Given the description of an element on the screen output the (x, y) to click on. 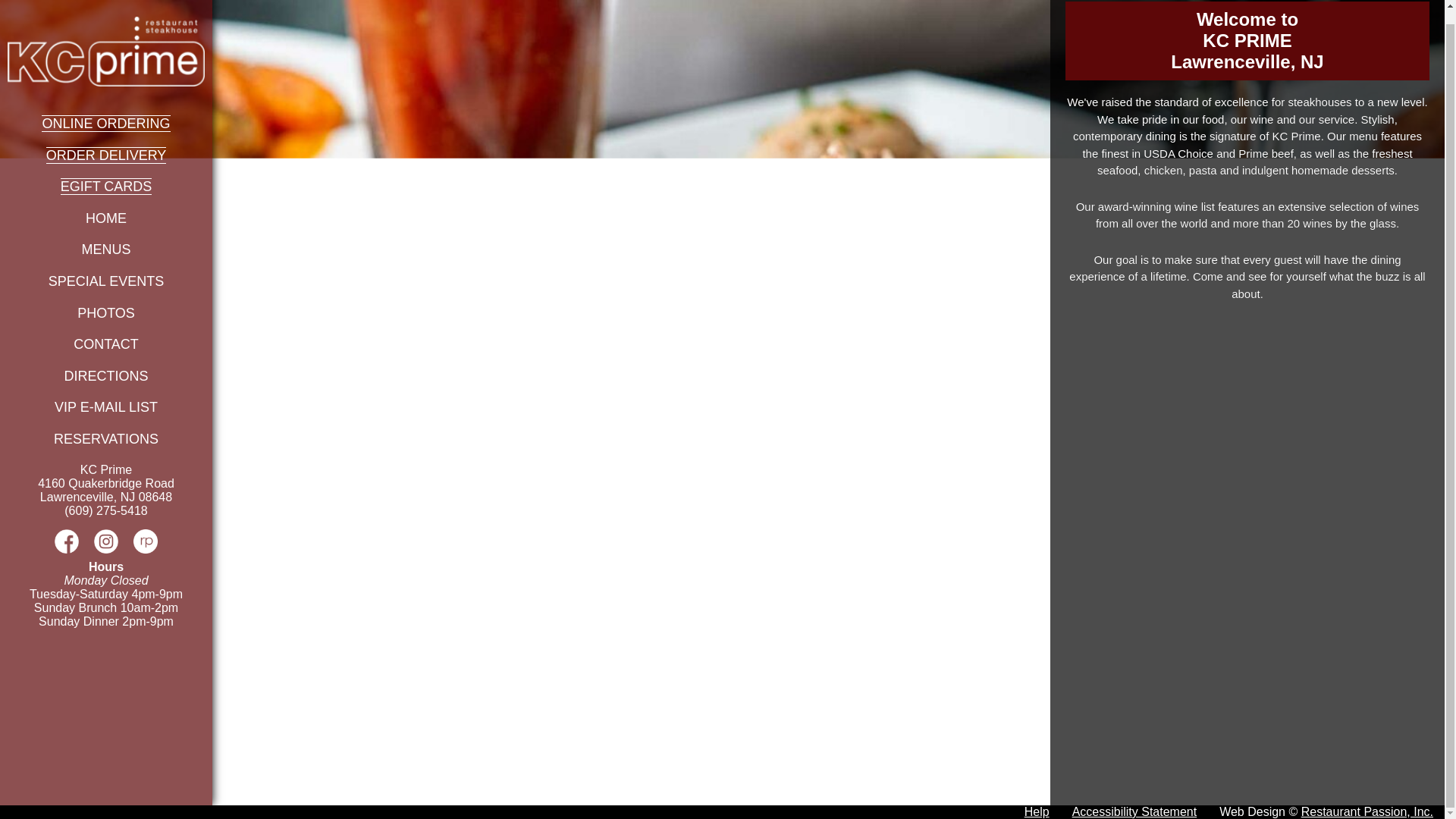
HOME (105, 218)
MENUS (106, 249)
VIP E-MAIL LIST (106, 406)
PHOTOS (106, 313)
Visit Our Facebook Page (66, 549)
ONLINE ORDERING (106, 123)
CONTACT (106, 344)
Help (1037, 811)
DIRECTIONS (106, 376)
Visit Our Instagram Page (105, 549)
